Given the description of an element on the screen output the (x, y) to click on. 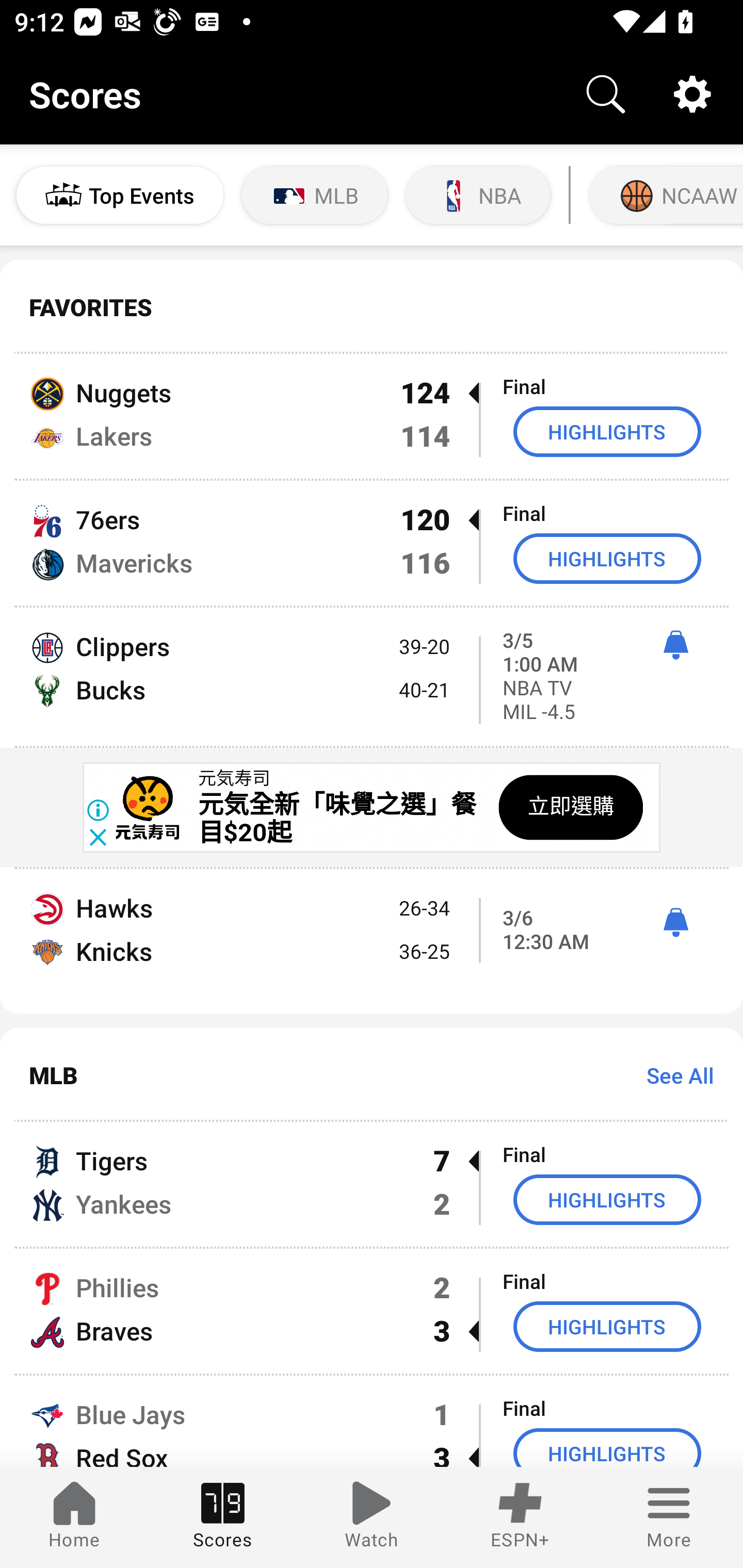
Search (605, 93)
Settings (692, 93)
 Top Events (119, 194)
MLB (314, 194)
NBA (477, 194)
NCAAW (664, 194)
FAVORITES (371, 307)
Nuggets 124  Final Lakers 114 HIGHLIGHTS (371, 416)
HIGHLIGHTS (607, 431)
76ers 120  Final Mavericks 116 HIGHLIGHTS (371, 543)
HIGHLIGHTS (607, 558)
ì (675, 644)
Hawks 26-34 Knicks 36-25 3/6 12:30 AM ì (371, 940)
ì (675, 922)
MLB See All (371, 1074)
See All (673, 1074)
Tigers 7  Final Yankees 2 HIGHLIGHTS (371, 1183)
HIGHLIGHTS (607, 1199)
Phillies 2 Final Braves 3  HIGHLIGHTS (371, 1310)
HIGHLIGHTS (607, 1326)
Blue Jays 1 Final Red Sox 3  HIGHLIGHTS (371, 1421)
HIGHLIGHTS (607, 1447)
Home (74, 1517)
Watch (371, 1517)
ESPN+ (519, 1517)
More (668, 1517)
